Given the description of an element on the screen output the (x, y) to click on. 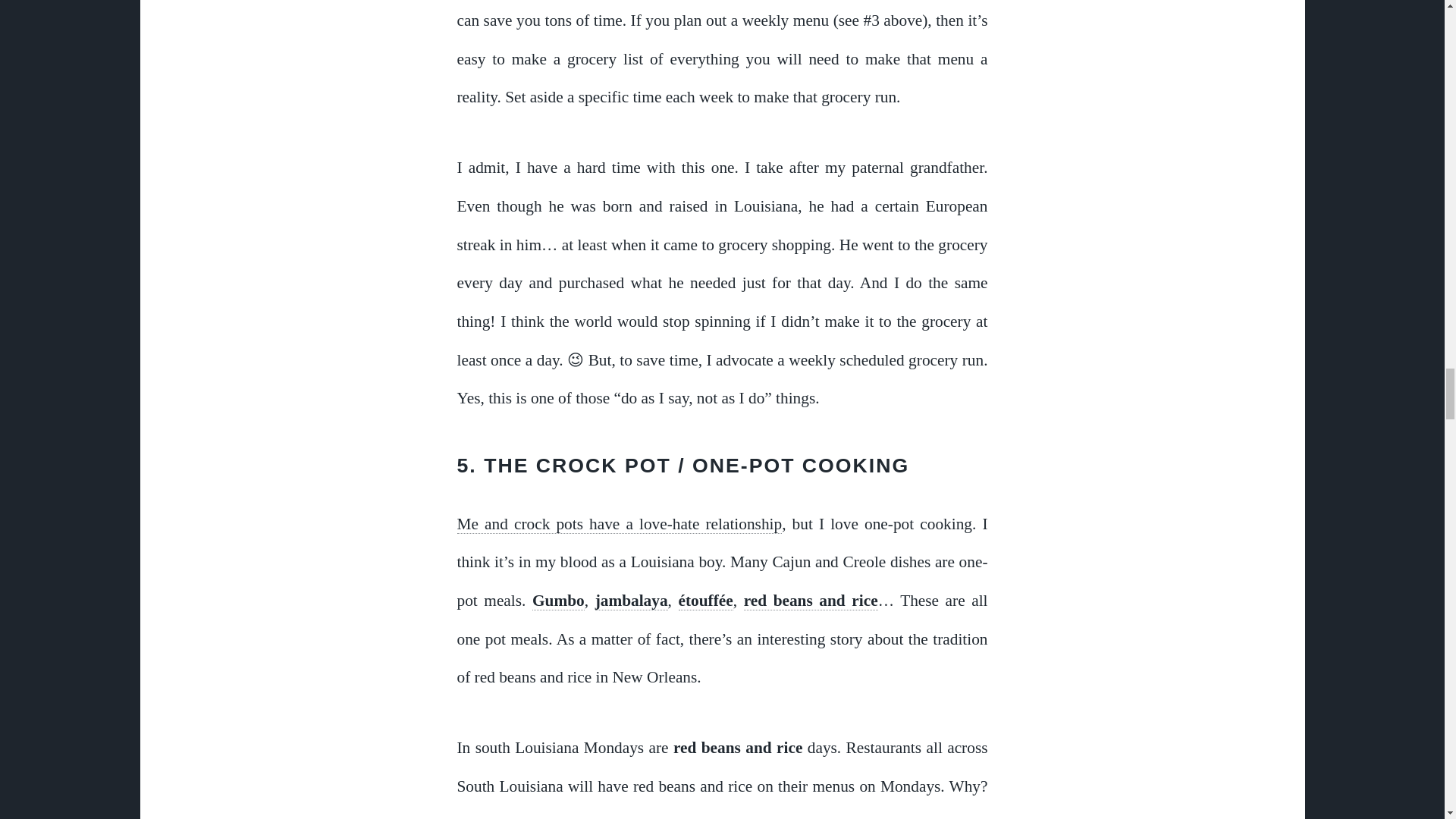
red beans and rice (810, 600)
Gumbo (558, 600)
Me and crock pots have a love-hate relationship (619, 524)
jambalaya (631, 600)
